Given the description of an element on the screen output the (x, y) to click on. 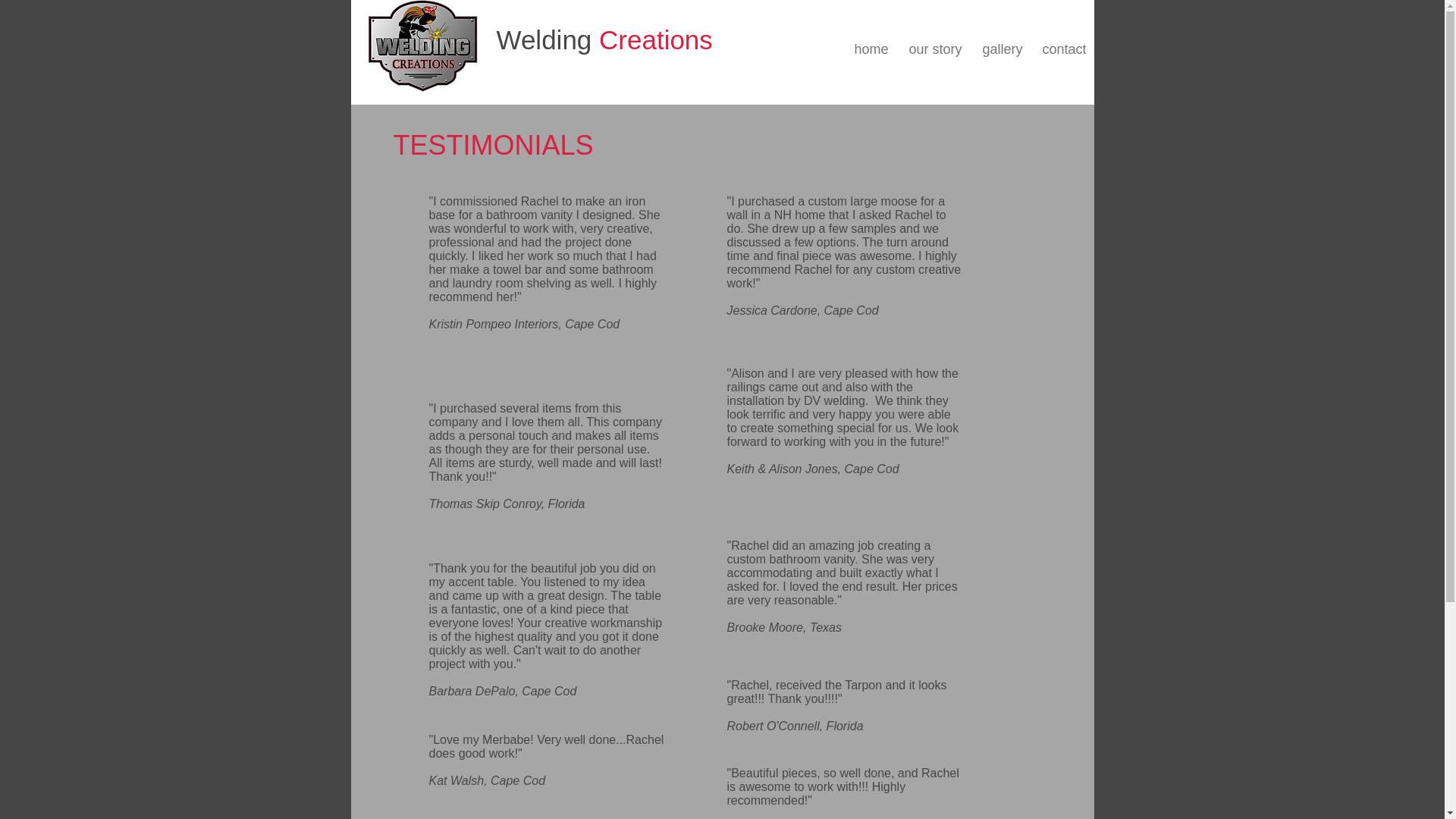
home (869, 48)
gallery (999, 48)
contact (1061, 48)
Kristin Pompeo Interiors, Cape Cod (524, 323)
our story (932, 48)
